Given the description of an element on the screen output the (x, y) to click on. 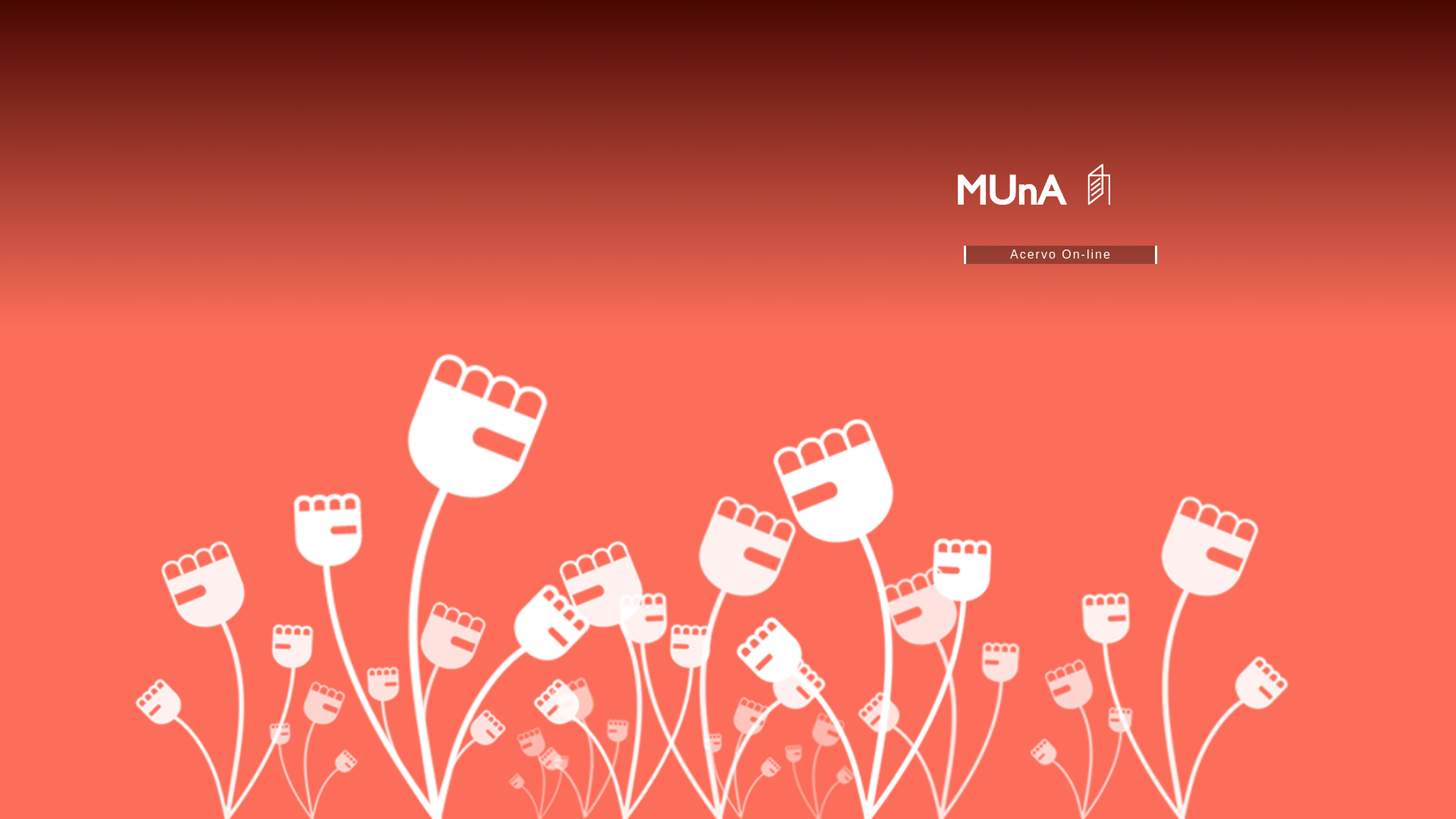
Acervo On-line Element type: text (1060, 254)
